Given the description of an element on the screen output the (x, y) to click on. 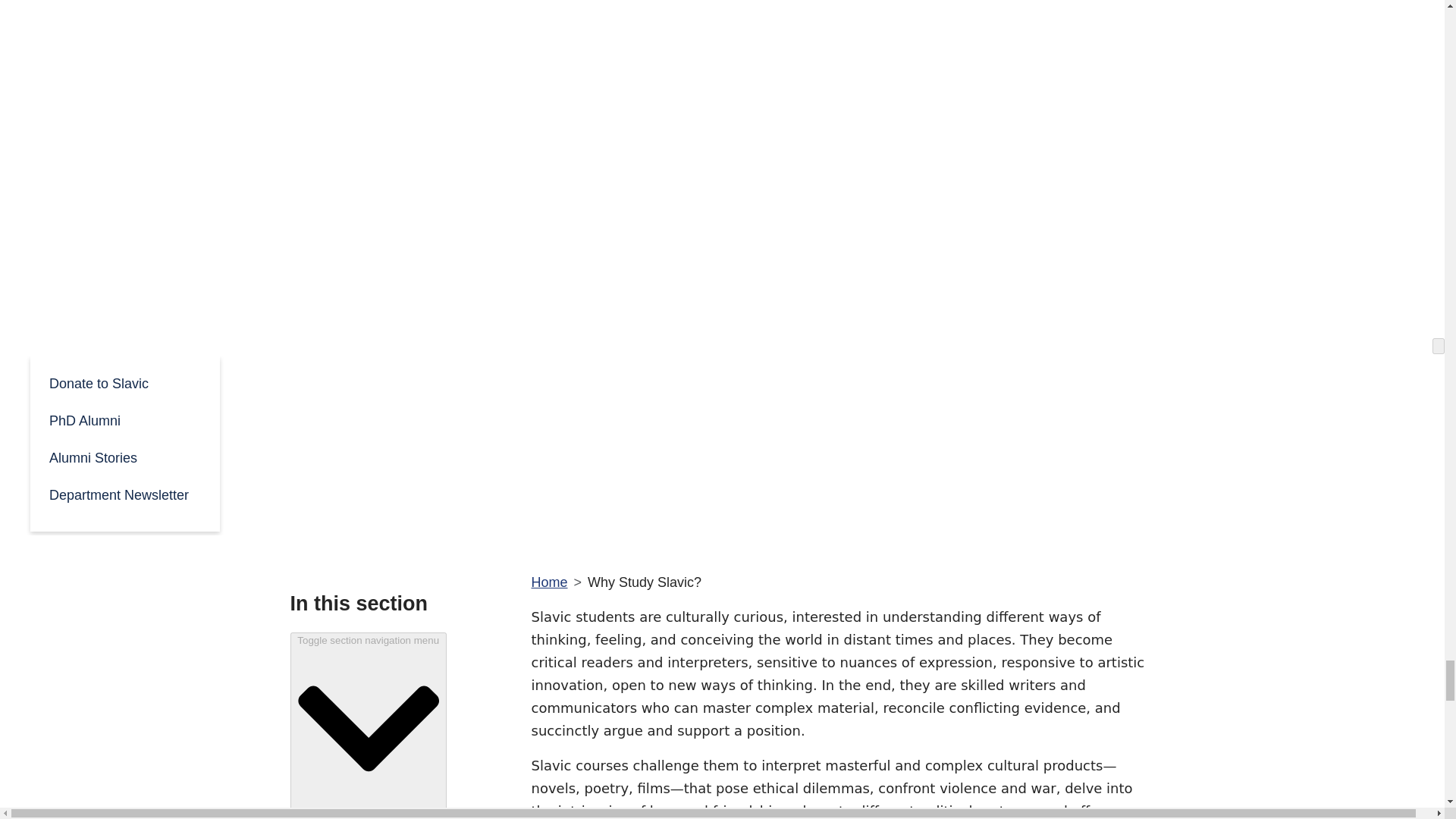
Donate to Slavic (125, 382)
Alumni Stories (125, 456)
PhD Alumni (125, 419)
